Given the description of an element on the screen output the (x, y) to click on. 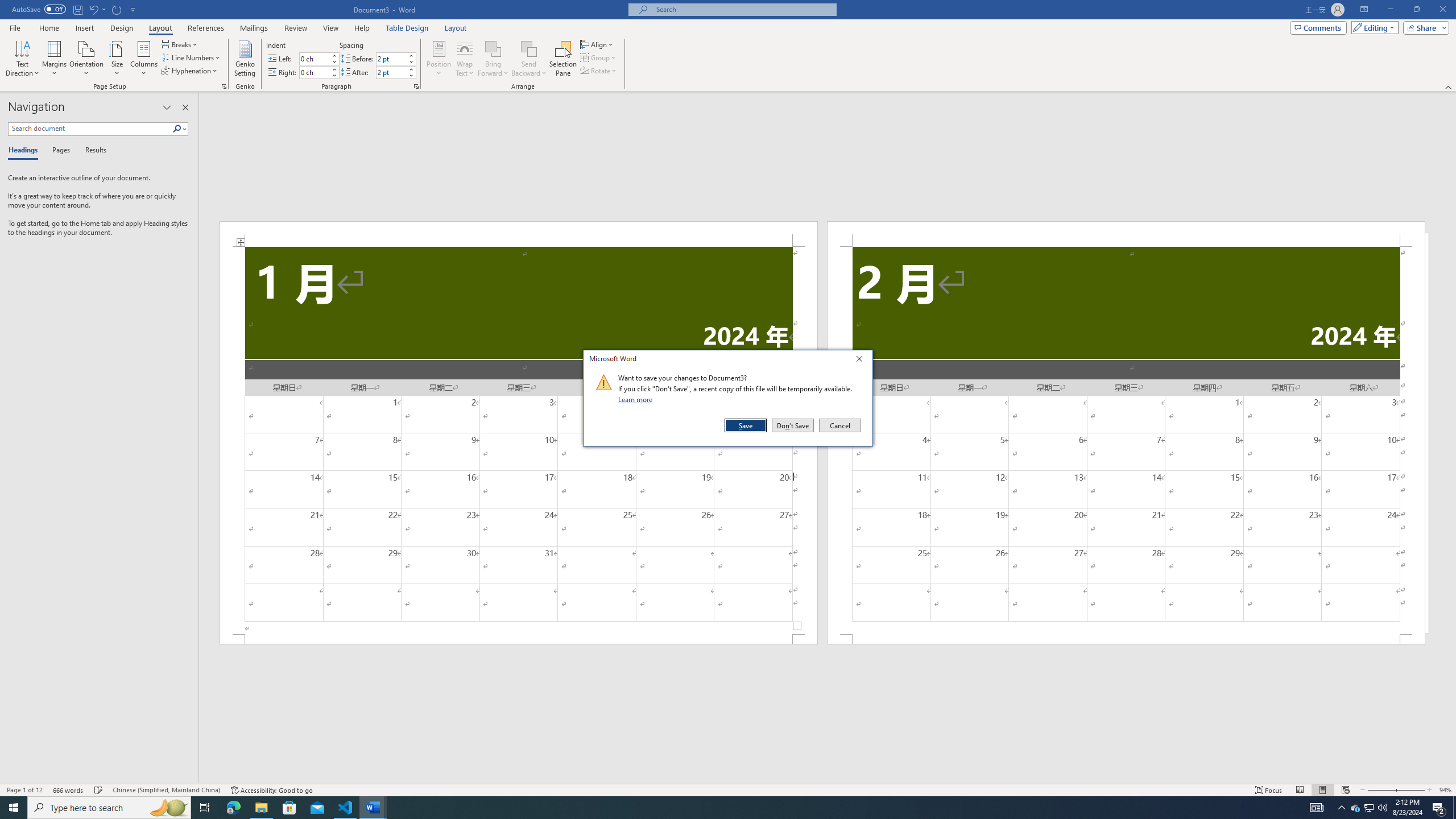
Spacing After (391, 72)
More (411, 69)
Cancel (839, 425)
Send Backward (528, 48)
